Given the description of an element on the screen output the (x, y) to click on. 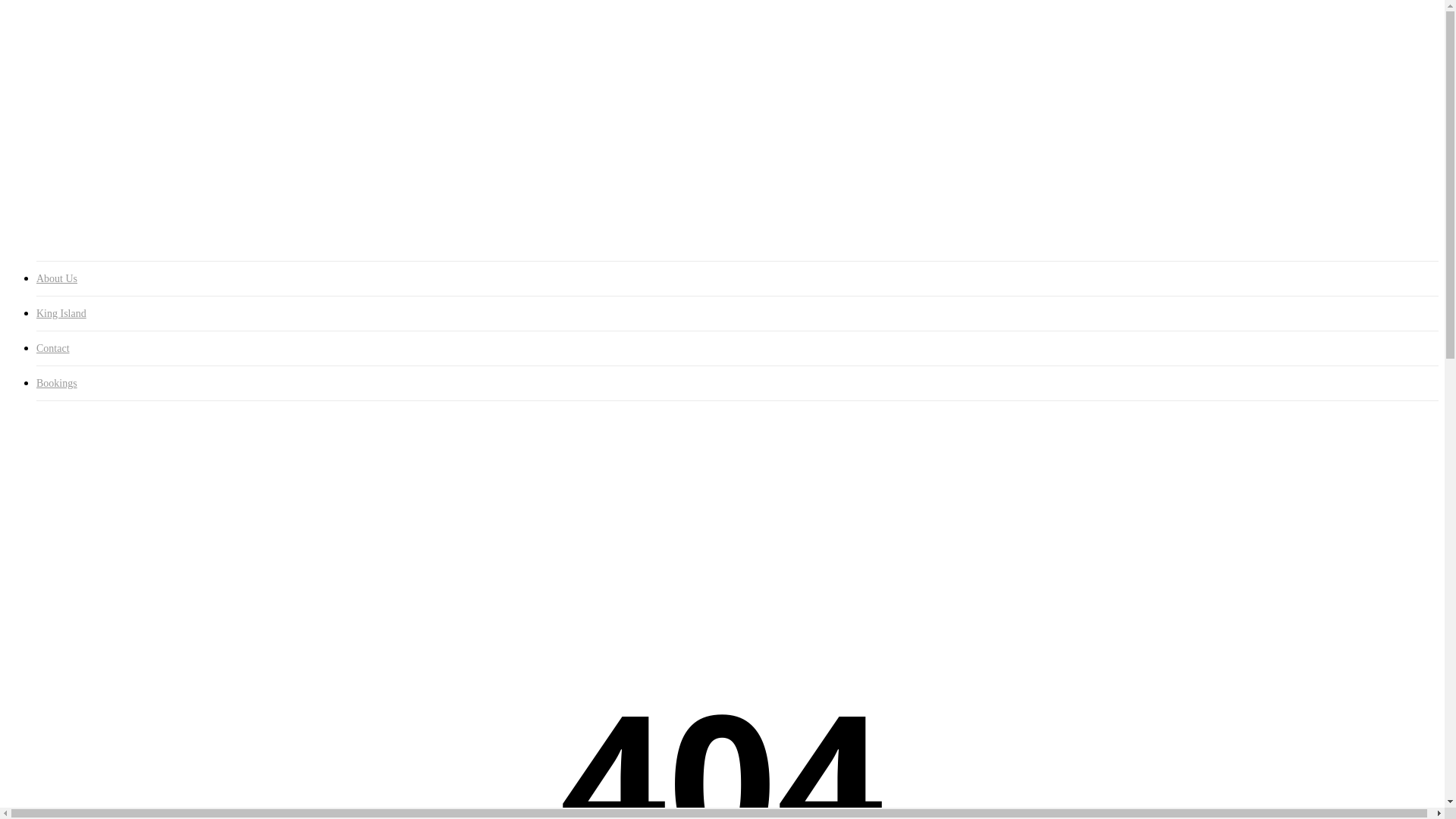
Shore House Element type: text (97, 93)
Bookings Element type: text (737, 383)
Contact Element type: text (55, 216)
About Us Element type: text (59, 79)
Contact Element type: text (737, 348)
King Island Element type: text (64, 161)
Helm Hideaways Element type: text (108, 147)
Things to do Element type: text (97, 202)
Amenities & Inclusions Element type: text (124, 106)
Getting to King Island Element type: text (120, 175)
instagram Element type: text (41, 53)
Skip to main content Element type: text (5, 5)
About Us Element type: text (737, 278)
Bookings Element type: text (59, 229)
Packages Element type: text (89, 120)
King Island Element type: text (737, 313)
Golf on King Island Element type: text (114, 188)
Guest reviews Element type: text (100, 134)
